Given the description of an element on the screen output the (x, y) to click on. 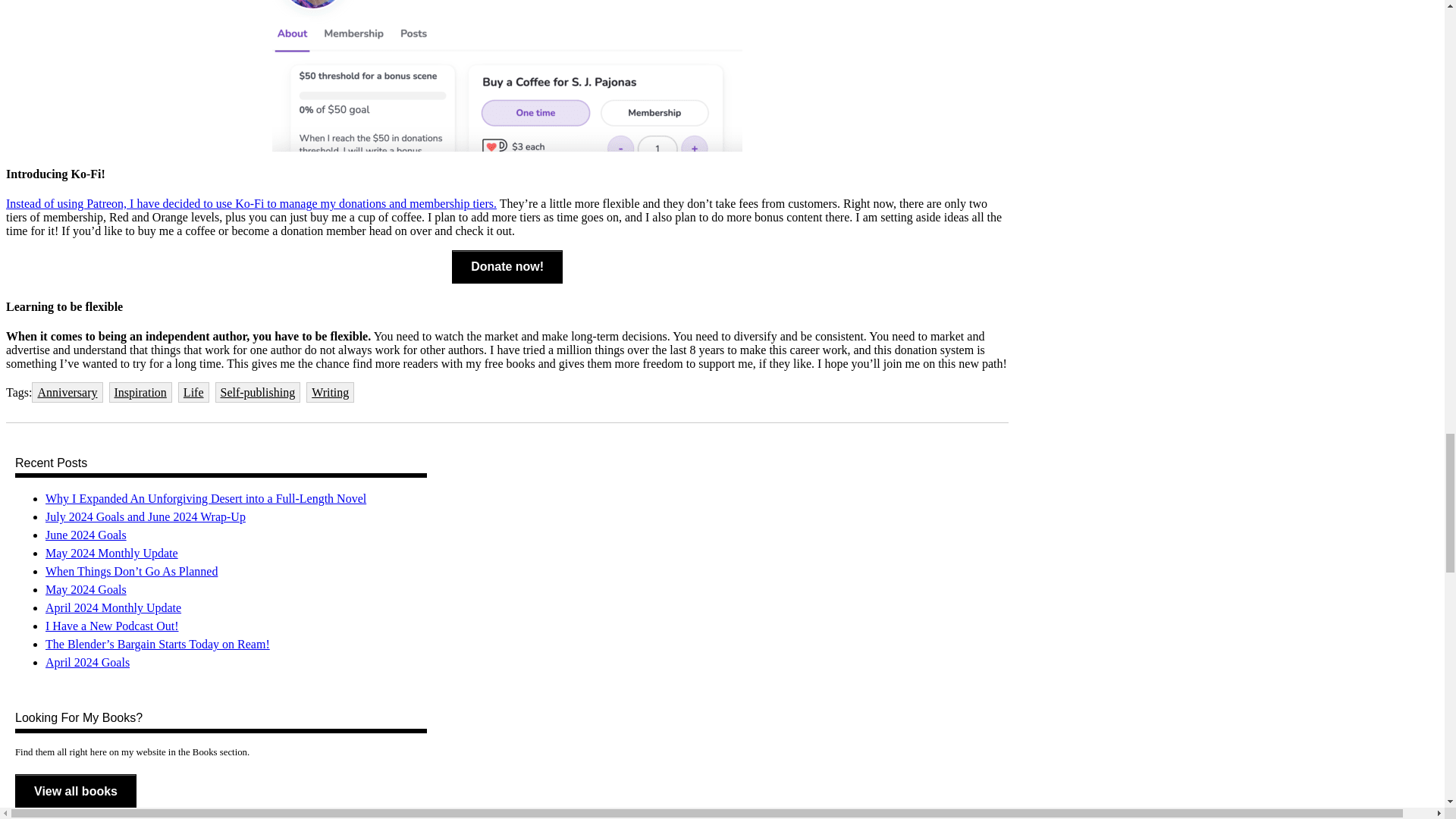
Anniversary (66, 392)
Writing (329, 392)
Inspiration (140, 392)
Self-publishing (258, 392)
Life (193, 392)
